Given the description of an element on the screen output the (x, y) to click on. 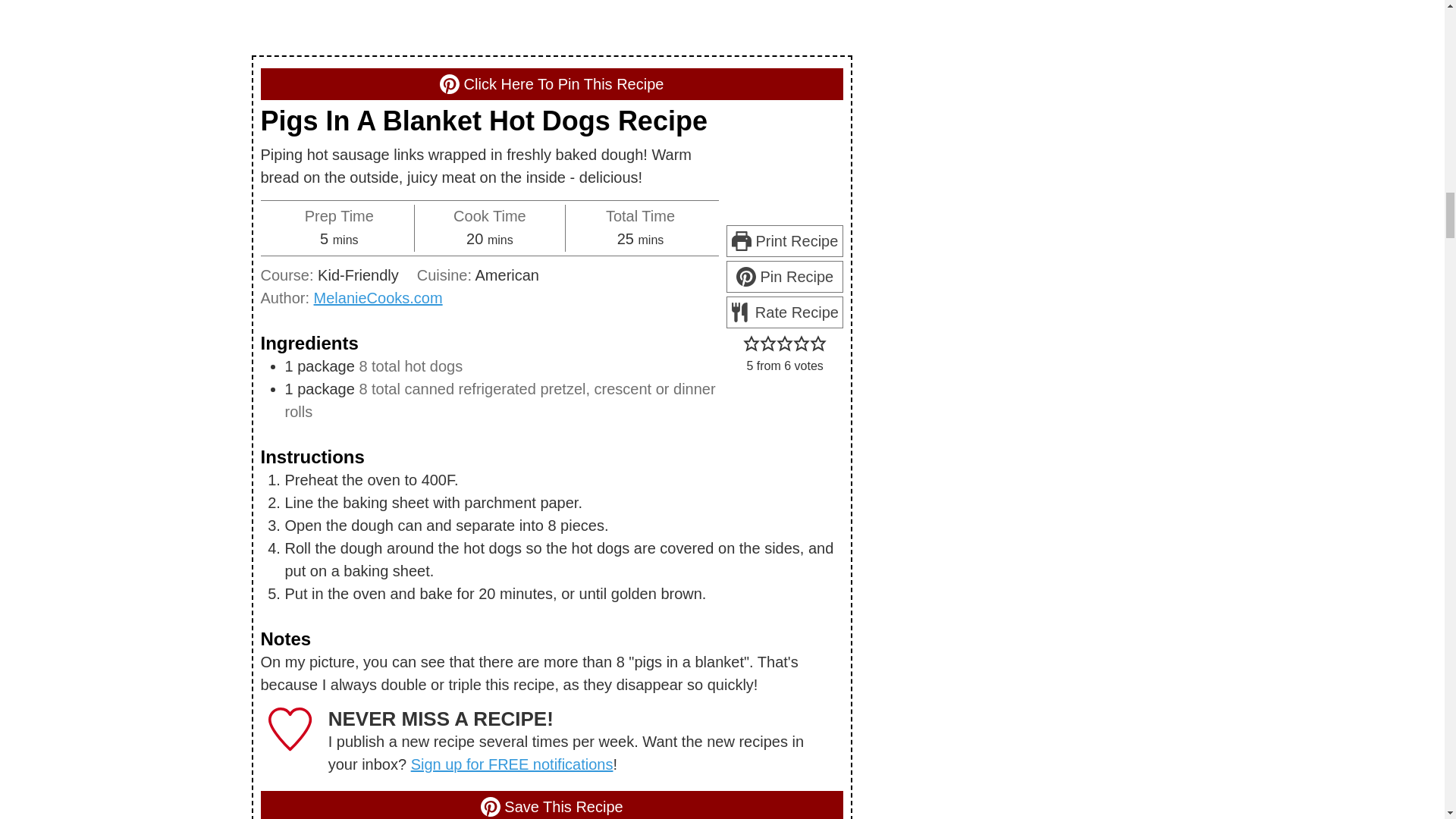
Save This Recipe (551, 805)
Rate Recipe (784, 312)
Pin Recipe (784, 276)
Sign up for FREE notifications (511, 764)
MelanieCooks.com (378, 297)
Click Here To Pin This Recipe (551, 83)
Print Recipe (784, 241)
